Given the description of an element on the screen output the (x, y) to click on. 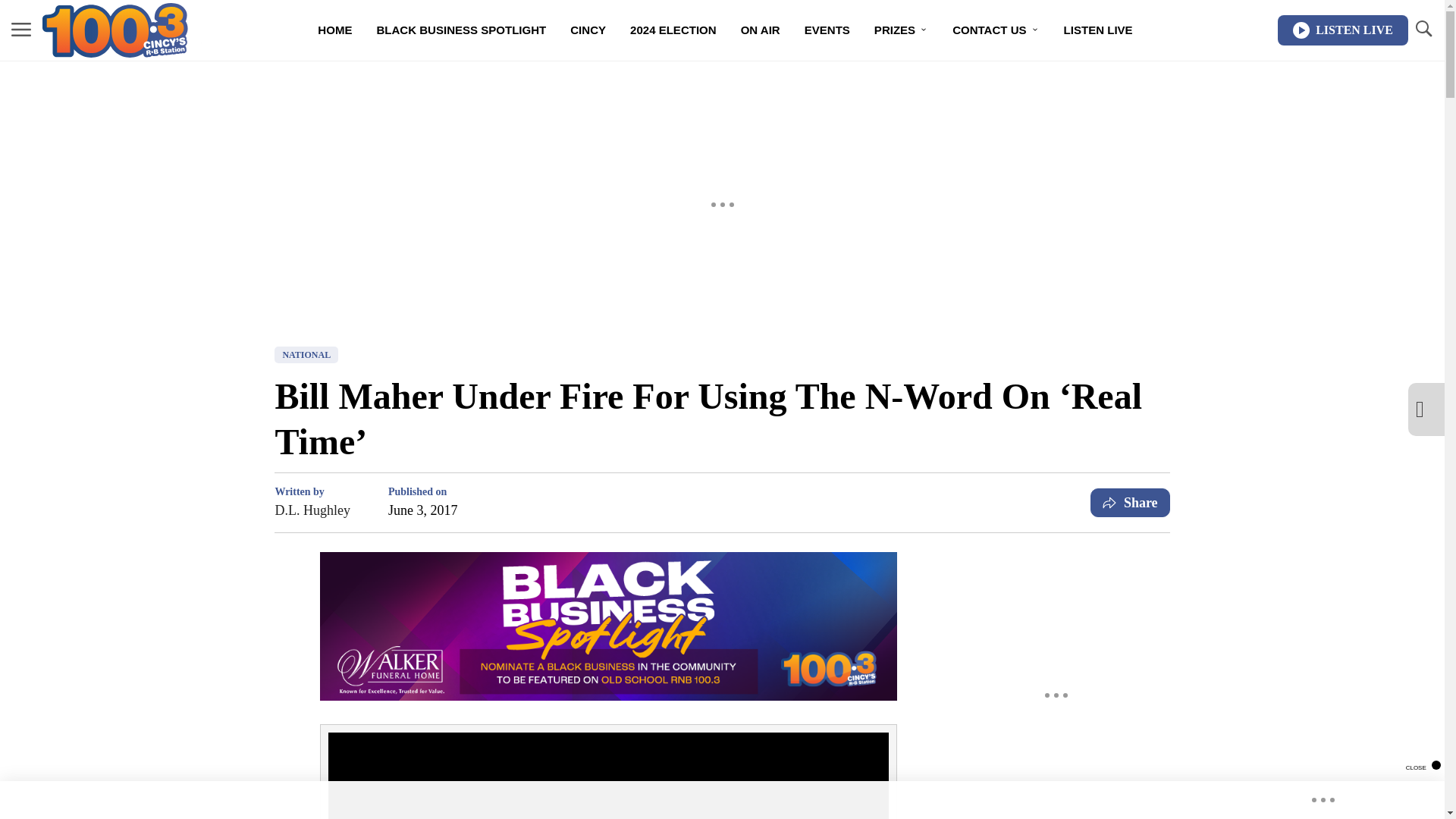
MENU (20, 29)
D.L. Hughley (312, 509)
EVENTS (826, 30)
LISTEN LIVE (1342, 30)
HOME (334, 30)
ON AIR (760, 30)
BLACK BUSINESS SPOTLIGHT (460, 30)
CINCY (587, 30)
CONTACT US (995, 30)
TOGGLE SEARCH (1422, 28)
